Given the description of an element on the screen output the (x, y) to click on. 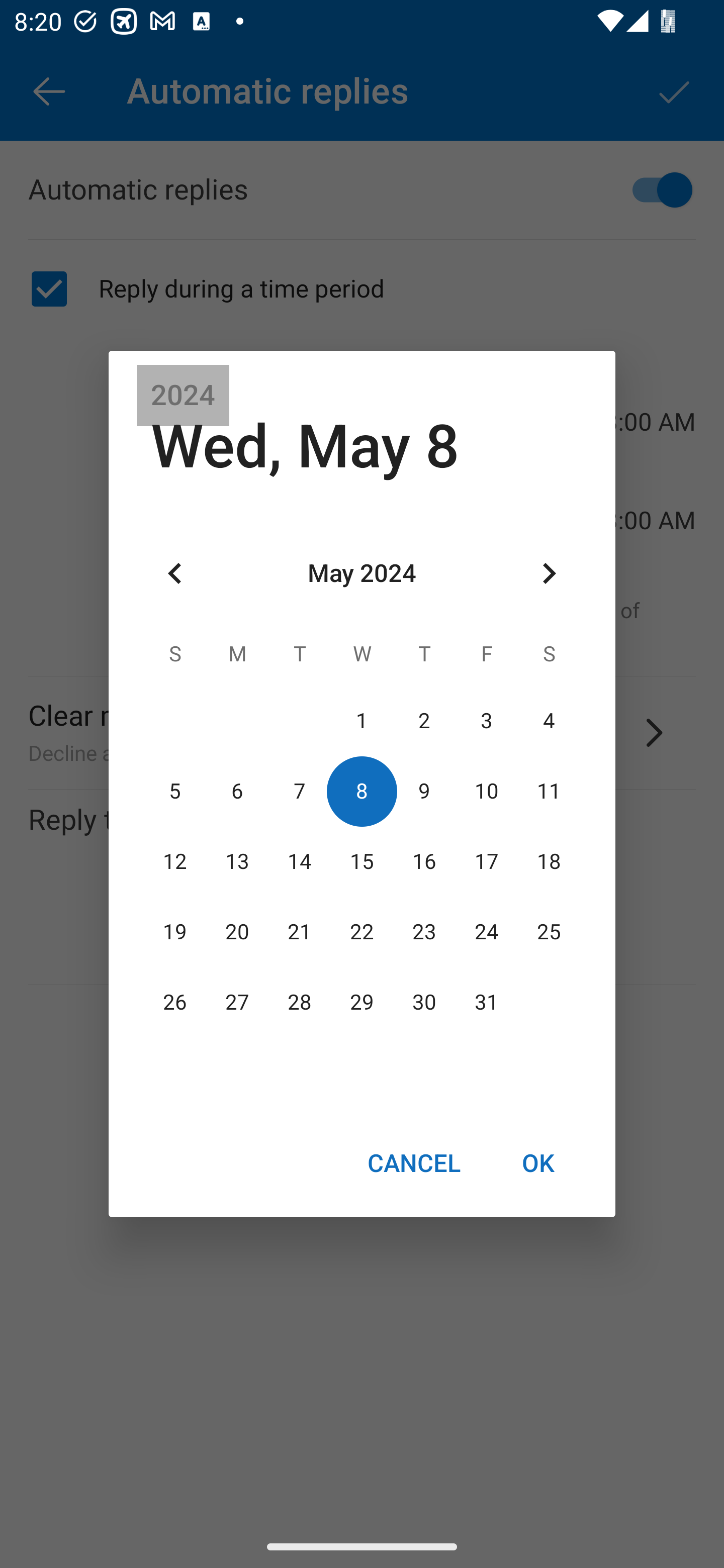
2024 (182, 395)
Wed, May 8 (304, 446)
Previous month (174, 573)
Next month (548, 573)
1 01 May 2024 (361, 720)
2 02 May 2024 (424, 720)
3 03 May 2024 (486, 720)
4 04 May 2024 (548, 720)
5 05 May 2024 (175, 790)
6 06 May 2024 (237, 790)
7 07 May 2024 (299, 790)
8 08 May 2024 (361, 790)
9 09 May 2024 (424, 790)
10 10 May 2024 (486, 790)
11 11 May 2024 (548, 790)
12 12 May 2024 (175, 861)
13 13 May 2024 (237, 861)
14 14 May 2024 (299, 861)
15 15 May 2024 (361, 861)
16 16 May 2024 (424, 861)
17 17 May 2024 (486, 861)
18 18 May 2024 (548, 861)
19 19 May 2024 (175, 931)
20 20 May 2024 (237, 931)
21 21 May 2024 (299, 931)
22 22 May 2024 (361, 931)
23 23 May 2024 (424, 931)
24 24 May 2024 (486, 931)
25 25 May 2024 (548, 931)
26 26 May 2024 (175, 1002)
27 27 May 2024 (237, 1002)
28 28 May 2024 (299, 1002)
29 29 May 2024 (361, 1002)
30 30 May 2024 (424, 1002)
31 31 May 2024 (486, 1002)
CANCEL (413, 1162)
OK (537, 1162)
